Given the description of an element on the screen output the (x, y) to click on. 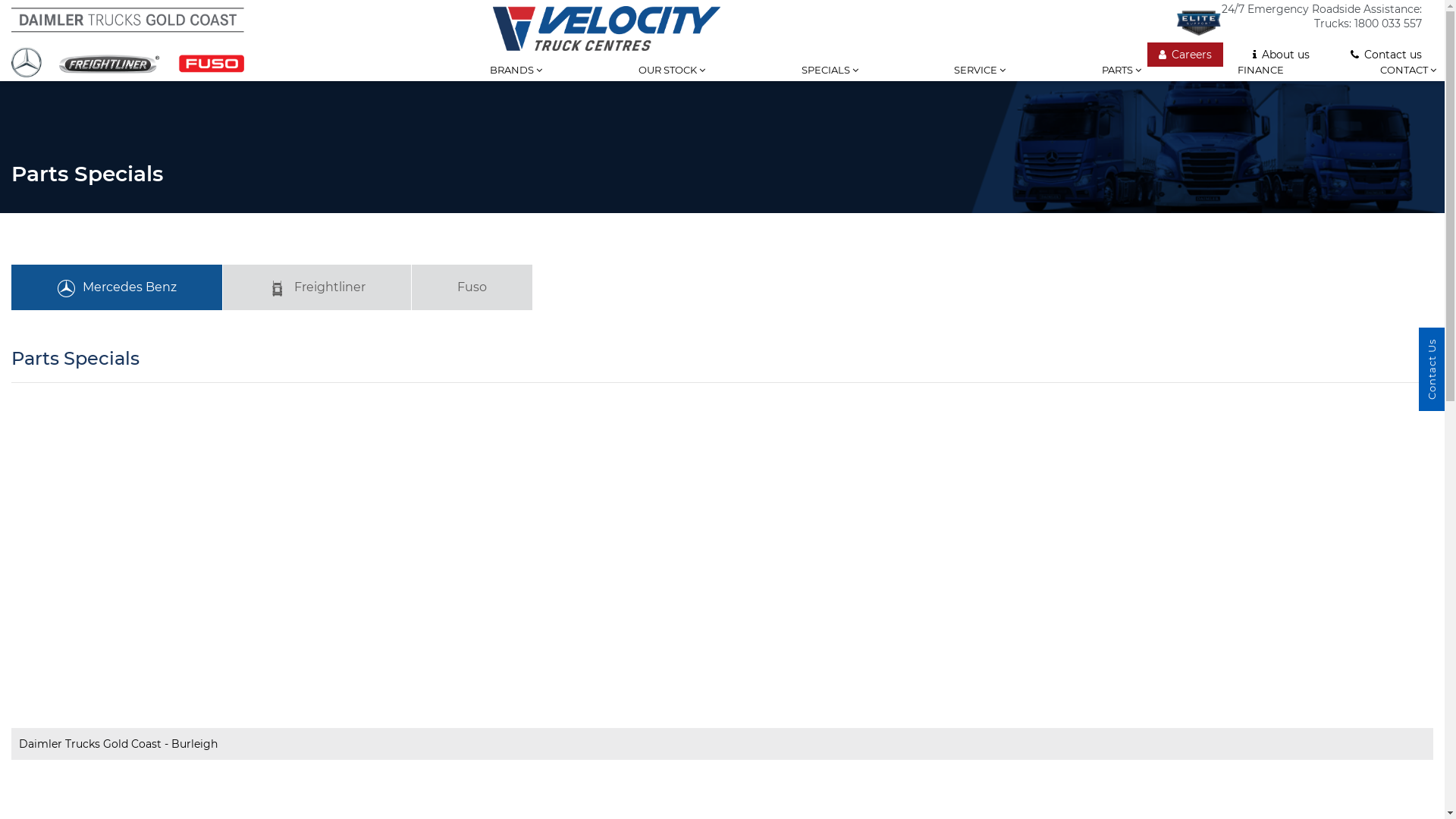
FINANCE Element type: text (1260, 80)
SPECIALS Element type: text (829, 80)
Contact us Element type: text (1386, 54)
PARTS Element type: text (1121, 80)
Careers Element type: text (1185, 54)
OUR STOCK Element type: text (671, 80)
SERVICE Element type: text (979, 80)
Mercedes Benz Element type: text (116, 287)
Freightliner Element type: text (316, 287)
About us Element type: text (1281, 54)
Fuso Element type: text (472, 287)
Daimler Trucks Gold Coast - Burleigh Element type: text (722, 743)
1800 033 557 Element type: text (1387, 23)
CONTACT Element type: text (1408, 80)
Elite Support Element type: hover (1198, 22)
BRANDS Element type: text (515, 80)
Contact Us Element type: text (1431, 369)
